Given the description of an element on the screen output the (x, y) to click on. 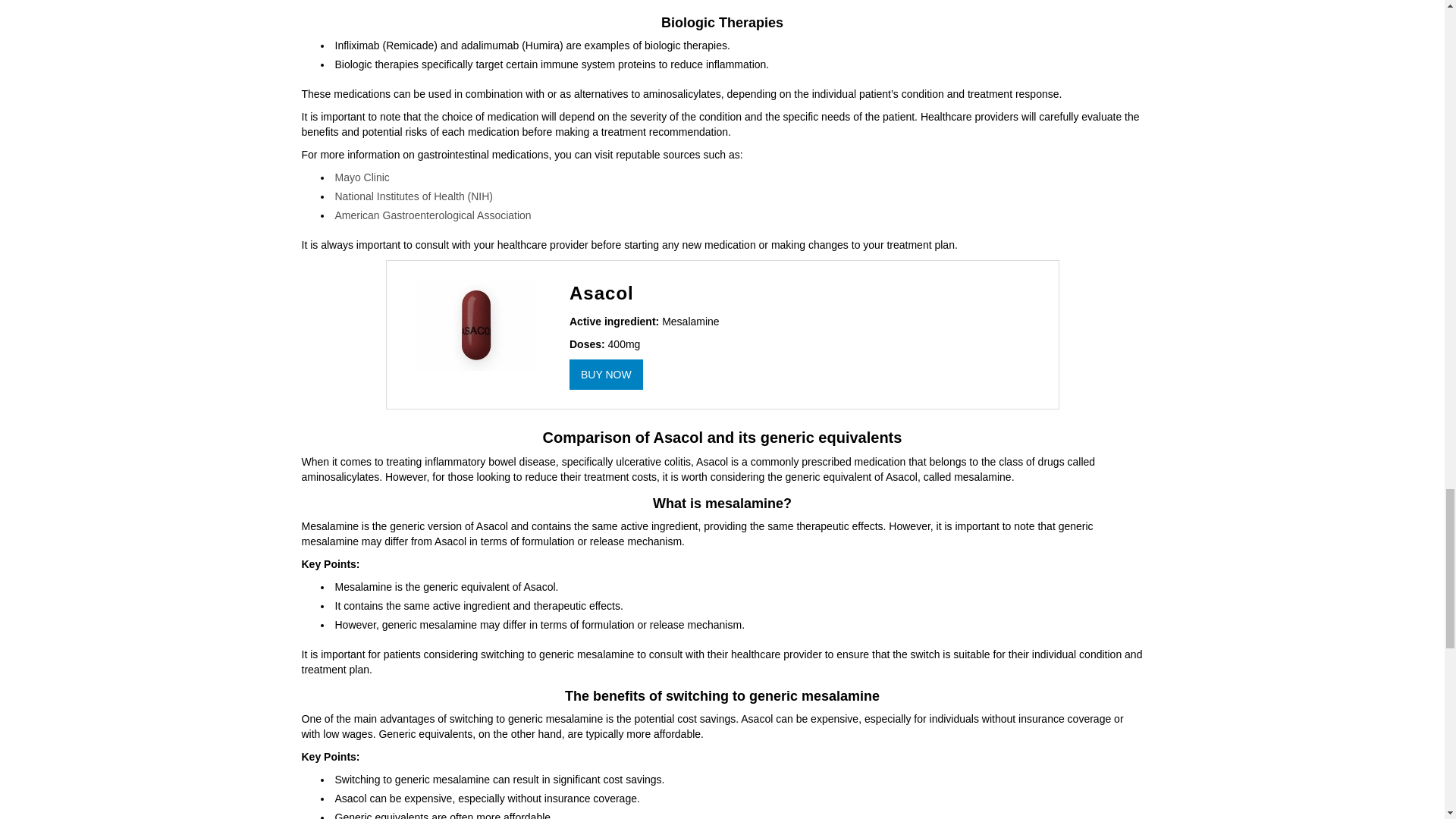
Mayo Clinic (362, 177)
BUY NOW (606, 374)
American Gastroenterological Association (432, 215)
Buy Now (606, 374)
